Given the description of an element on the screen output the (x, y) to click on. 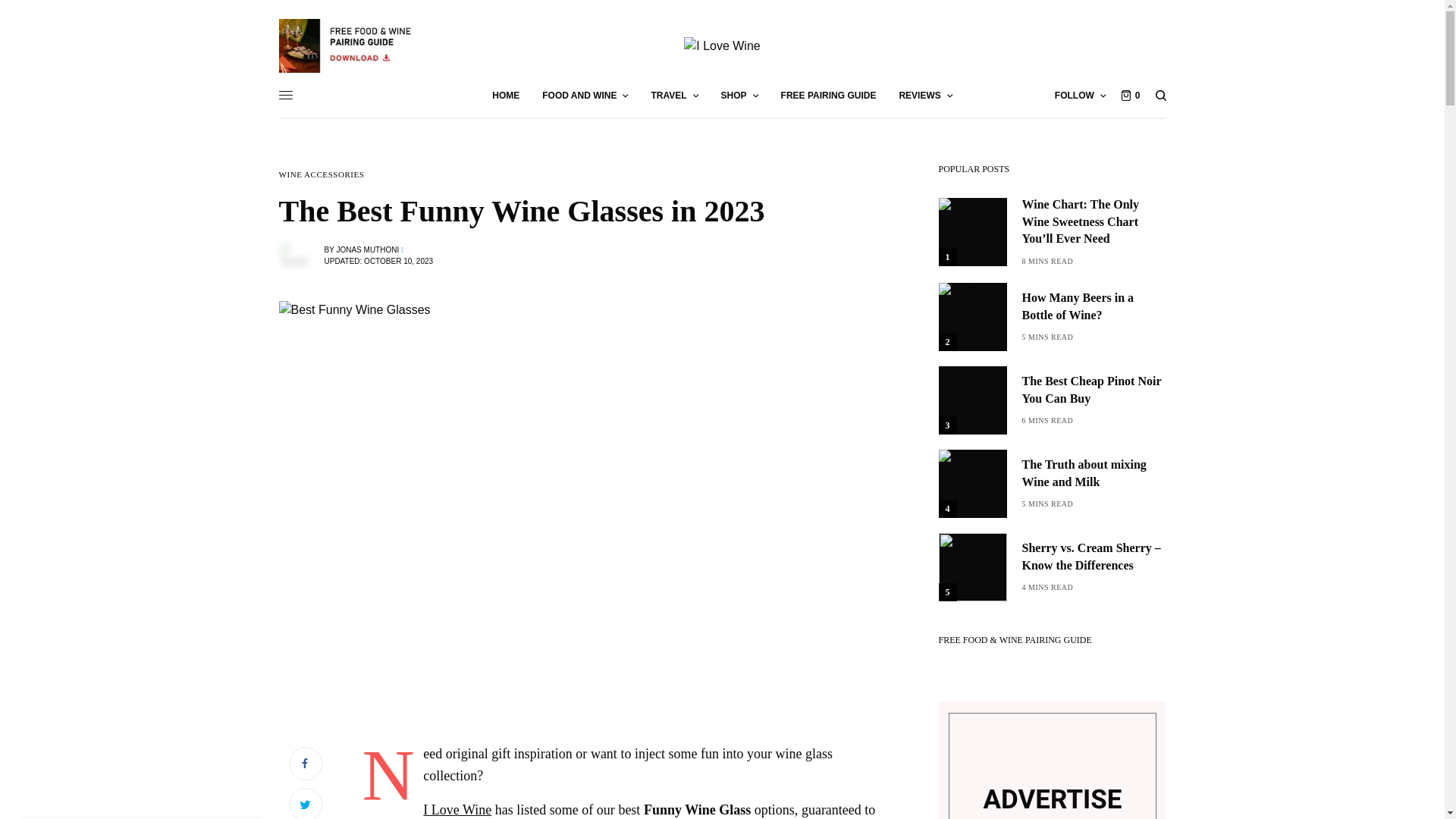
FOOD AND WINE (584, 94)
WINE ACCESSORIES (322, 174)
FOLLOW (1079, 94)
Posts by Jonas Muthoni (367, 249)
I Love Wine (722, 45)
FREE PAIRING GUIDE (828, 94)
TRAVEL (673, 94)
REVIEWS (925, 94)
